Given the description of an element on the screen output the (x, y) to click on. 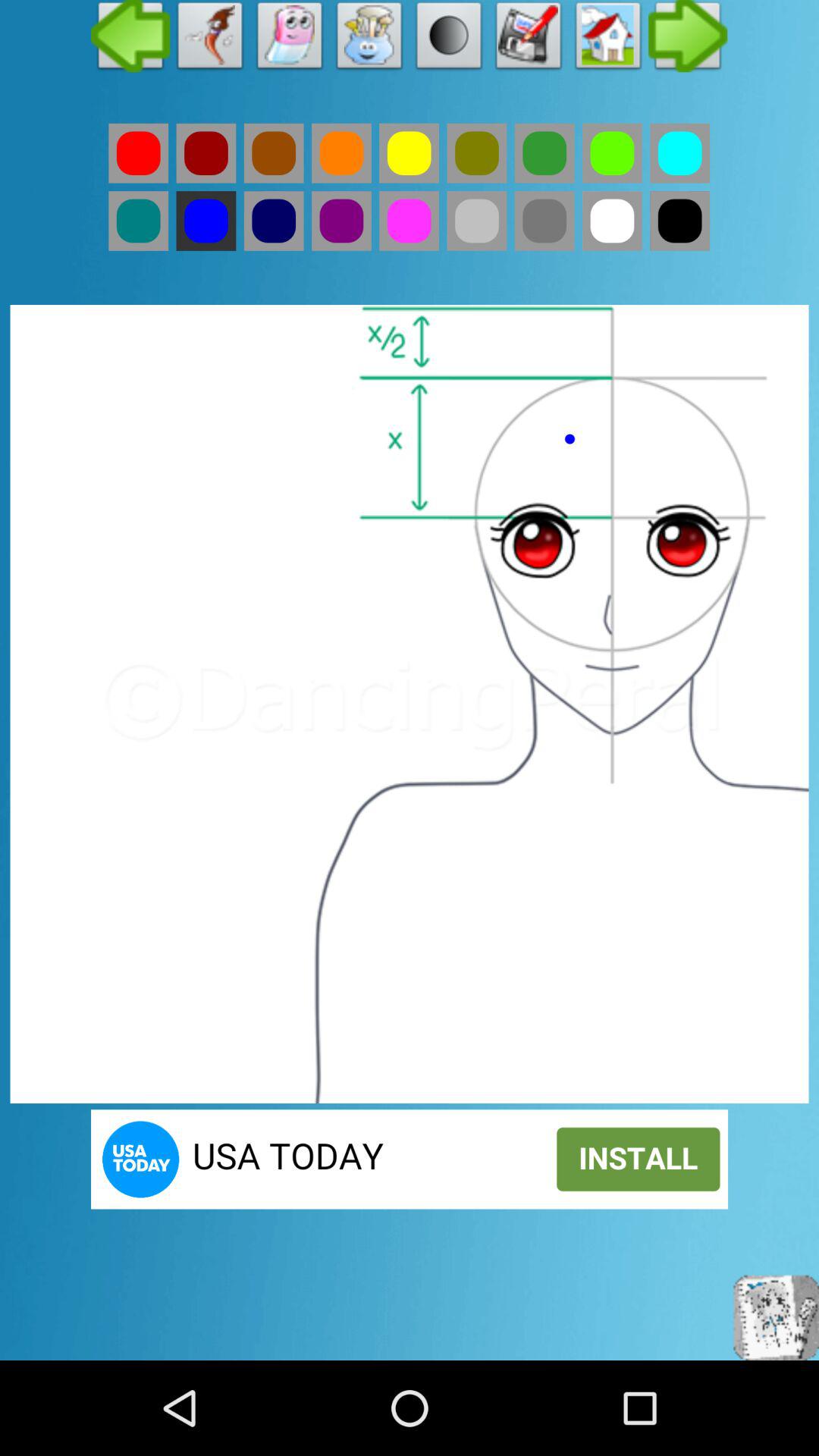
select yellow color (409, 153)
